Given the description of an element on the screen output the (x, y) to click on. 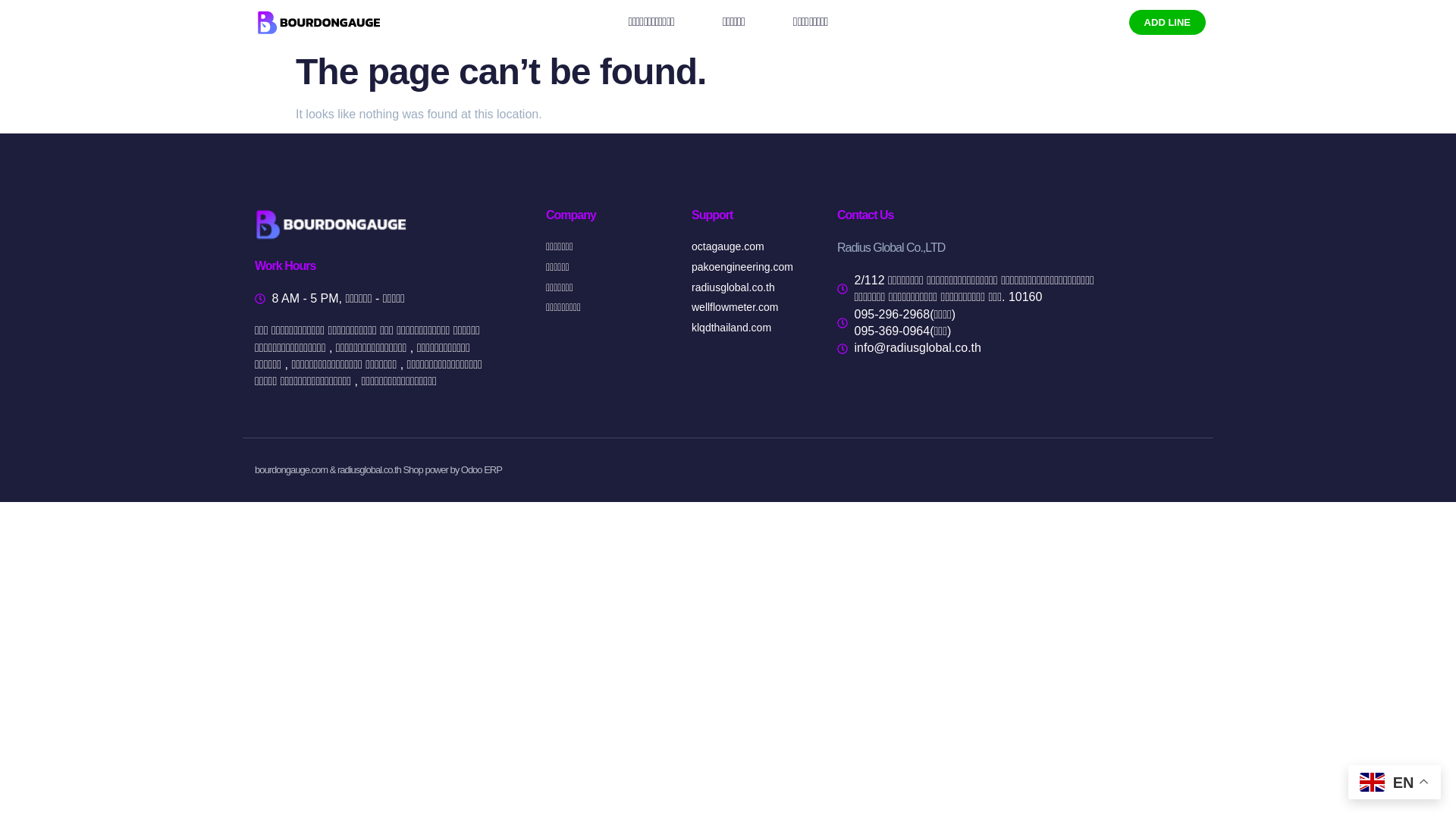
ADD LINE (1167, 21)
octagauge.com (751, 246)
klqdthailand.com (751, 328)
wellflowmeter.com (751, 307)
radiusglobal.co.th (751, 287)
pakoengineering.com (751, 267)
